Given the description of an element on the screen output the (x, y) to click on. 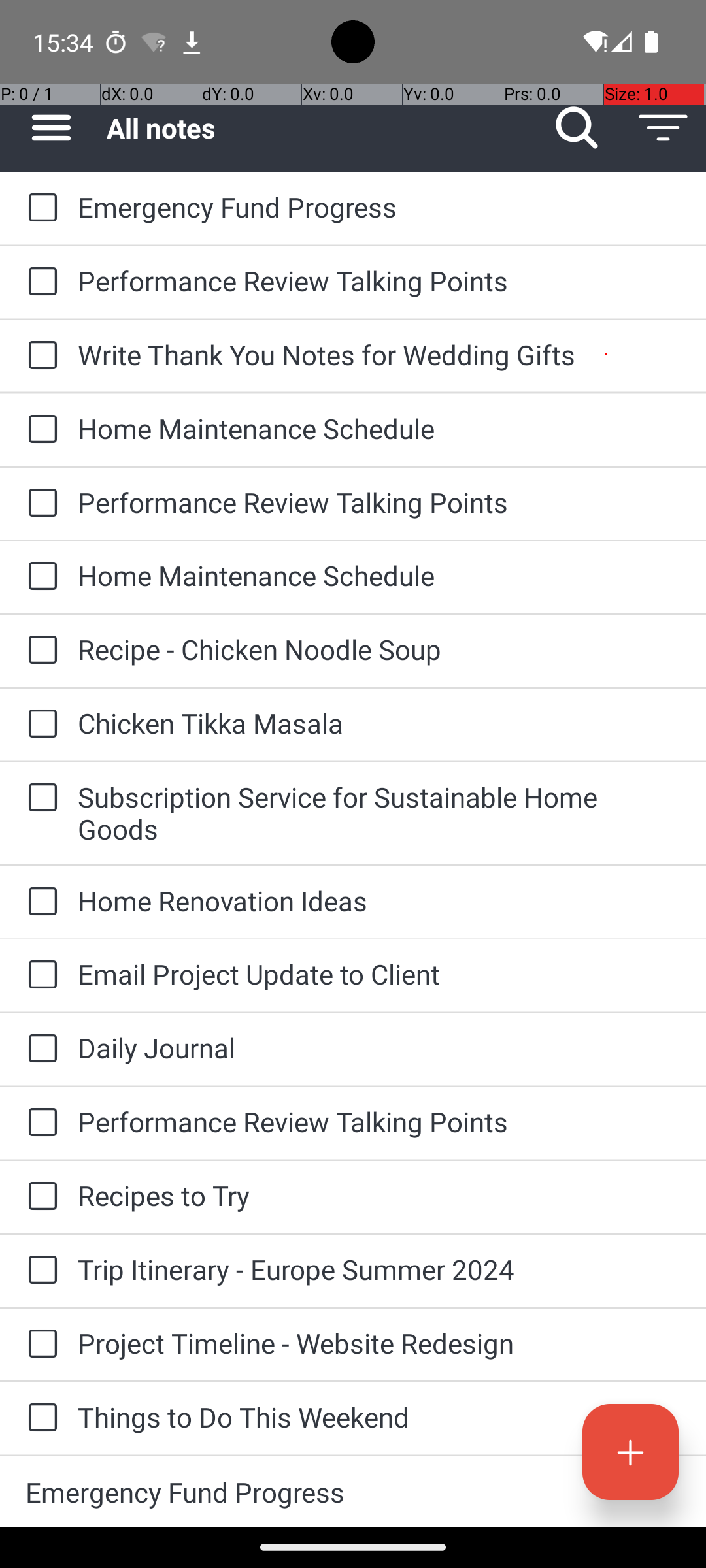
to-do: Emergency Fund Progress Element type: android.widget.CheckBox (38, 208)
Emergency Fund Progress Element type: android.widget.TextView (378, 206)
to-do: Performance Review Talking Points Element type: android.widget.CheckBox (38, 282)
to-do: Write Thank You Notes for Wedding Gifts Element type: android.widget.CheckBox (38, 356)
Write Thank You Notes for Wedding Gifts Element type: android.widget.TextView (378, 354)
to-do: Home Maintenance Schedule Element type: android.widget.CheckBox (38, 429)
Home Maintenance Schedule Element type: android.widget.TextView (378, 427)
to-do: Recipe - Chicken Noodle Soup Element type: android.widget.CheckBox (38, 650)
Recipe - Chicken Noodle Soup Element type: android.widget.TextView (378, 648)
to-do: Chicken Tikka Masala Element type: android.widget.CheckBox (38, 724)
Chicken Tikka Masala Element type: android.widget.TextView (378, 722)
to-do: Subscription Service for Sustainable Home Goods Element type: android.widget.CheckBox (38, 798)
Subscription Service for Sustainable Home Goods Element type: android.widget.TextView (378, 812)
to-do: Home Renovation Ideas Element type: android.widget.CheckBox (38, 902)
Home Renovation Ideas Element type: android.widget.TextView (378, 900)
to-do: Email Project Update to Client Element type: android.widget.CheckBox (38, 975)
Email Project Update to Client Element type: android.widget.TextView (378, 973)
to-do: Daily Journal Element type: android.widget.CheckBox (38, 1049)
Daily Journal Element type: android.widget.TextView (378, 1047)
to-do: Recipes to Try Element type: android.widget.CheckBox (38, 1196)
Recipes to Try Element type: android.widget.TextView (378, 1194)
to-do: Trip Itinerary - Europe Summer 2024 Element type: android.widget.CheckBox (38, 1270)
Trip Itinerary - Europe Summer 2024 Element type: android.widget.TextView (378, 1268)
to-do: Things to Do This Weekend Element type: android.widget.CheckBox (38, 1418)
Things to Do This Weekend Element type: android.widget.TextView (378, 1416)
